Given the description of an element on the screen output the (x, y) to click on. 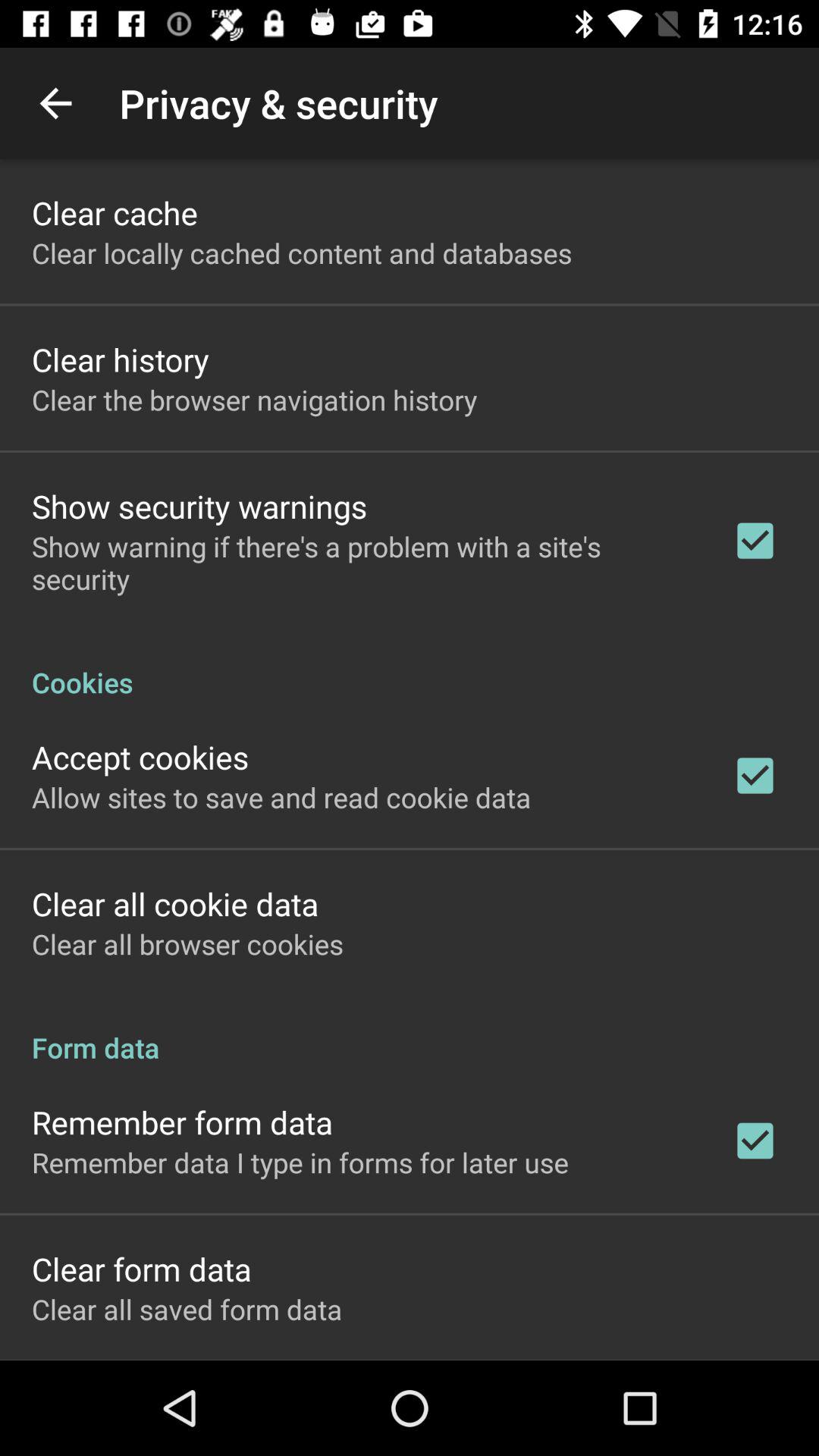
flip to show warning if item (361, 562)
